Given the description of an element on the screen output the (x, y) to click on. 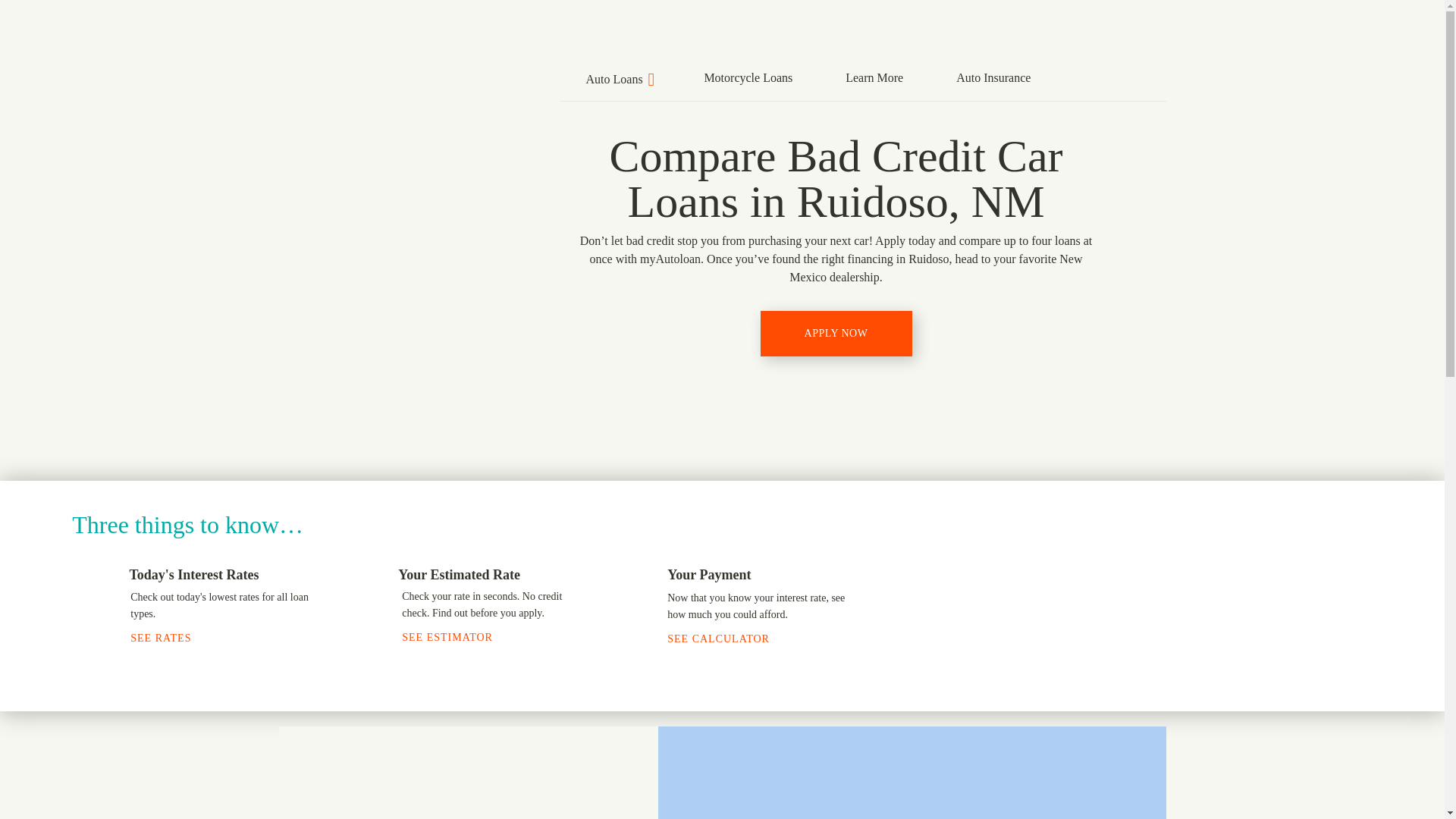
Learn More (874, 75)
Auto Insurance (993, 75)
APPLY NOW (835, 333)
SEE ESTIMATOR (456, 636)
Motorcycle Loans (747, 75)
Auto Loans (618, 76)
SEE CALCULATOR (726, 638)
SEE RATES (169, 637)
